Given the description of an element on the screen output the (x, y) to click on. 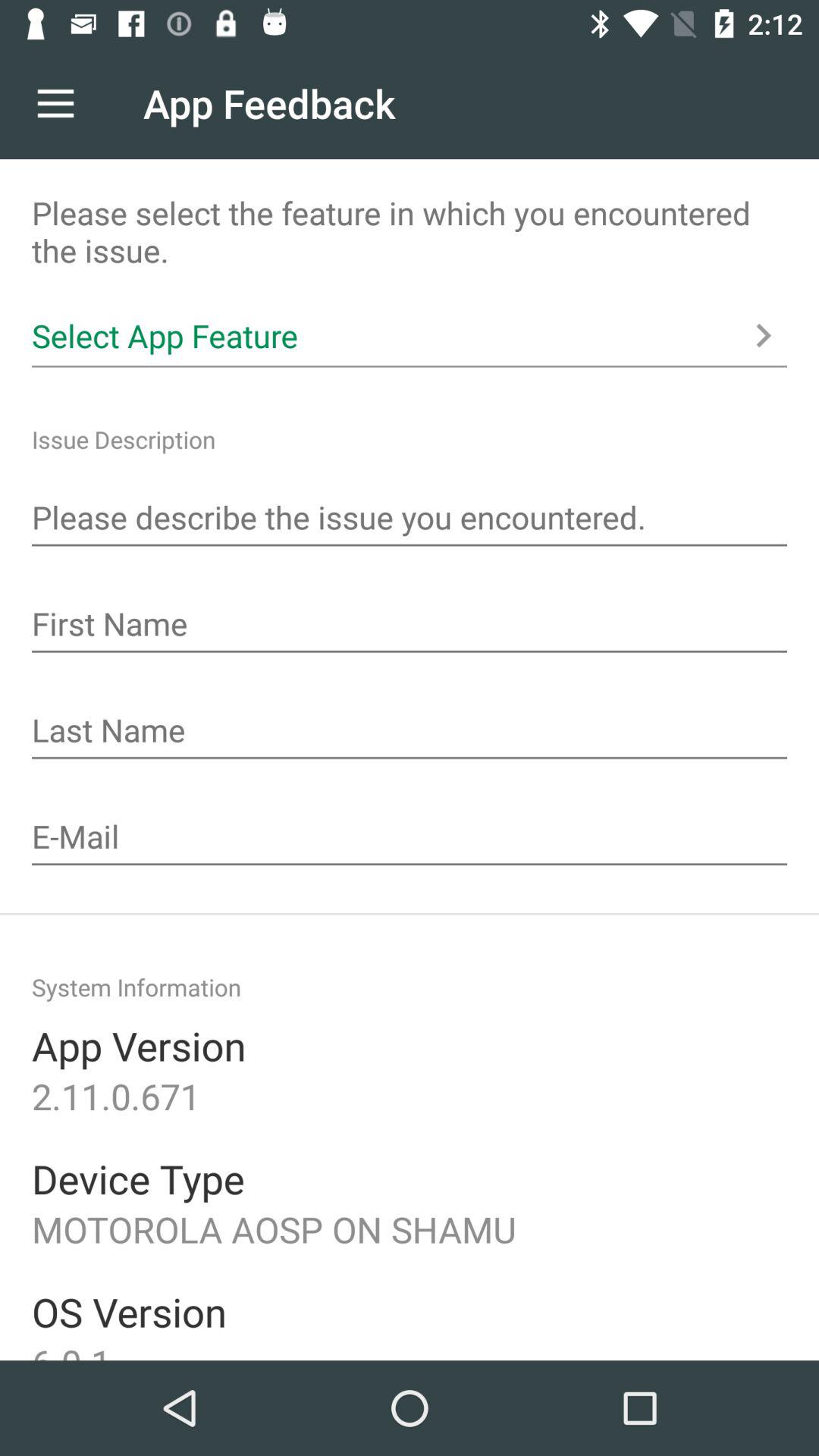
a place to describe issues encountered (409, 519)
